Given the description of an element on the screen output the (x, y) to click on. 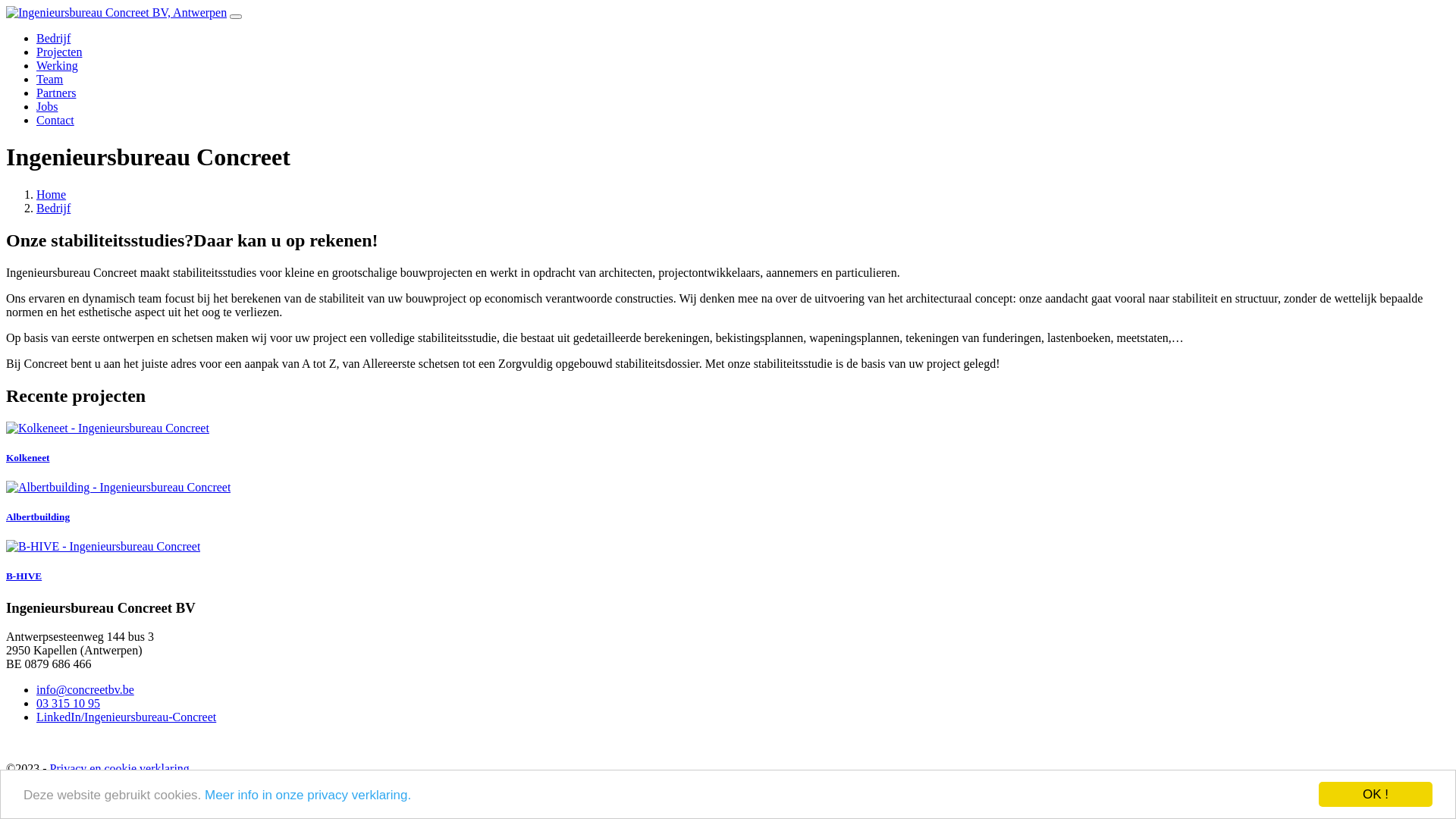
Home Element type: text (50, 194)
webdesign koen michielsen Element type: text (73, 793)
Albertbuilding Element type: text (727, 501)
LinkedIn/Ingenieursbureau-Concreet Element type: text (126, 716)
B-HIVE Element type: text (727, 560)
info@concreetbv.be Element type: text (85, 689)
Projecten Element type: text (58, 51)
Bedrijf Element type: text (53, 37)
Jobs Element type: text (46, 106)
Contact Element type: text (55, 119)
Team Element type: text (49, 78)
Bedrijf Element type: text (53, 207)
0879 686 466 Element type: text (57, 663)
03 315 10 95 Element type: text (68, 702)
Werking Element type: text (57, 65)
OK ! Element type: text (1375, 793)
Kolkeneet Element type: text (727, 442)
Partners Element type: text (55, 92)
Privacy en cookie verklaring Element type: text (118, 768)
Meer info in onze privacy verklaring. Element type: text (307, 794)
